Given the description of an element on the screen output the (x, y) to click on. 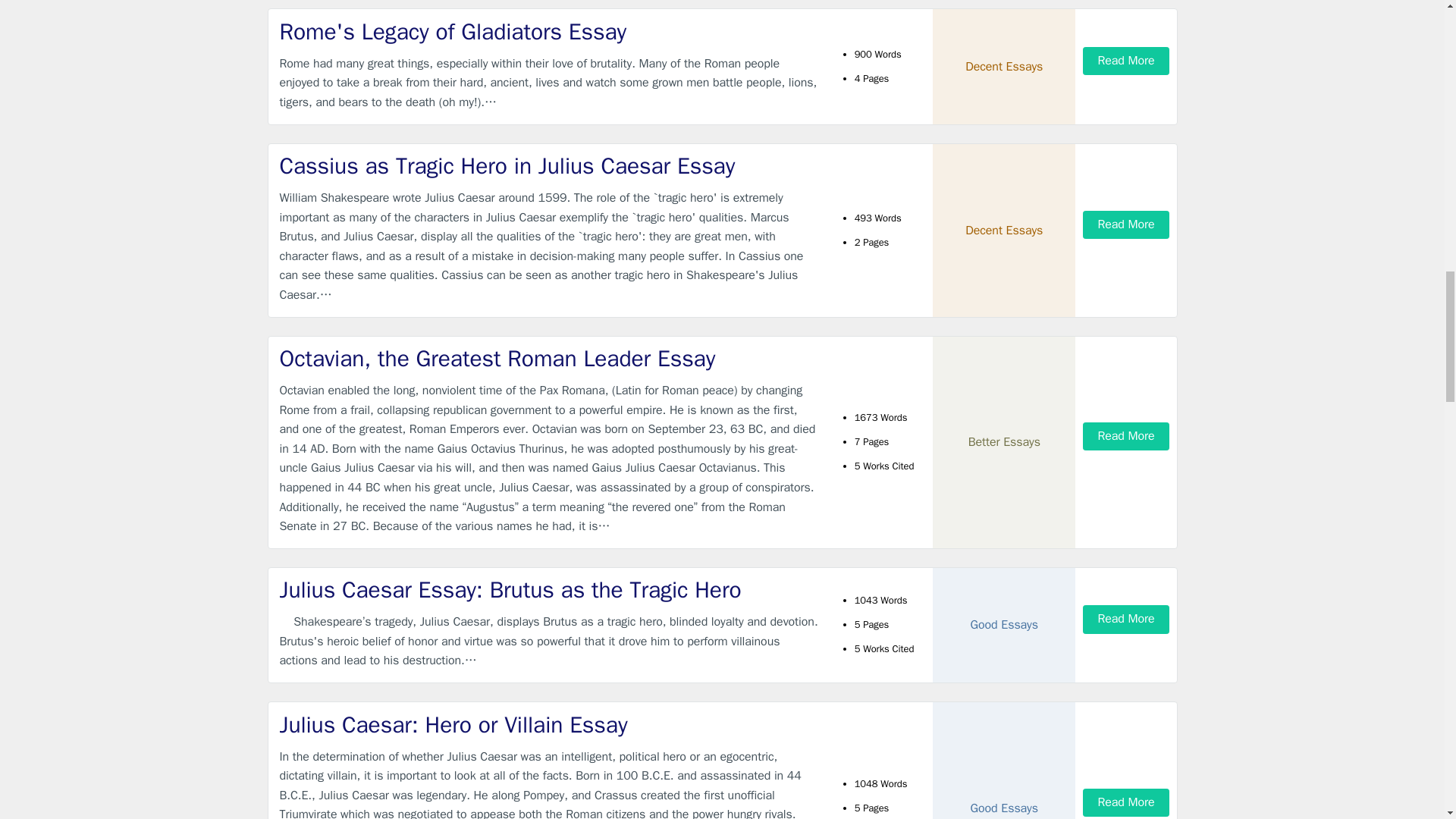
Julius Caesar: Hero or Villain Essay (548, 725)
Read More (1126, 802)
Cassius as Tragic Hero in Julius Caesar Essay (548, 165)
Octavian, the Greatest Roman Leader Essay (548, 358)
Read More (1126, 436)
Read More (1126, 619)
Julius Caesar Essay: Brutus as the Tragic Hero (548, 590)
Read More (1126, 224)
Rome's Legacy of Gladiators Essay (548, 31)
Read More (1126, 60)
